Given the description of an element on the screen output the (x, y) to click on. 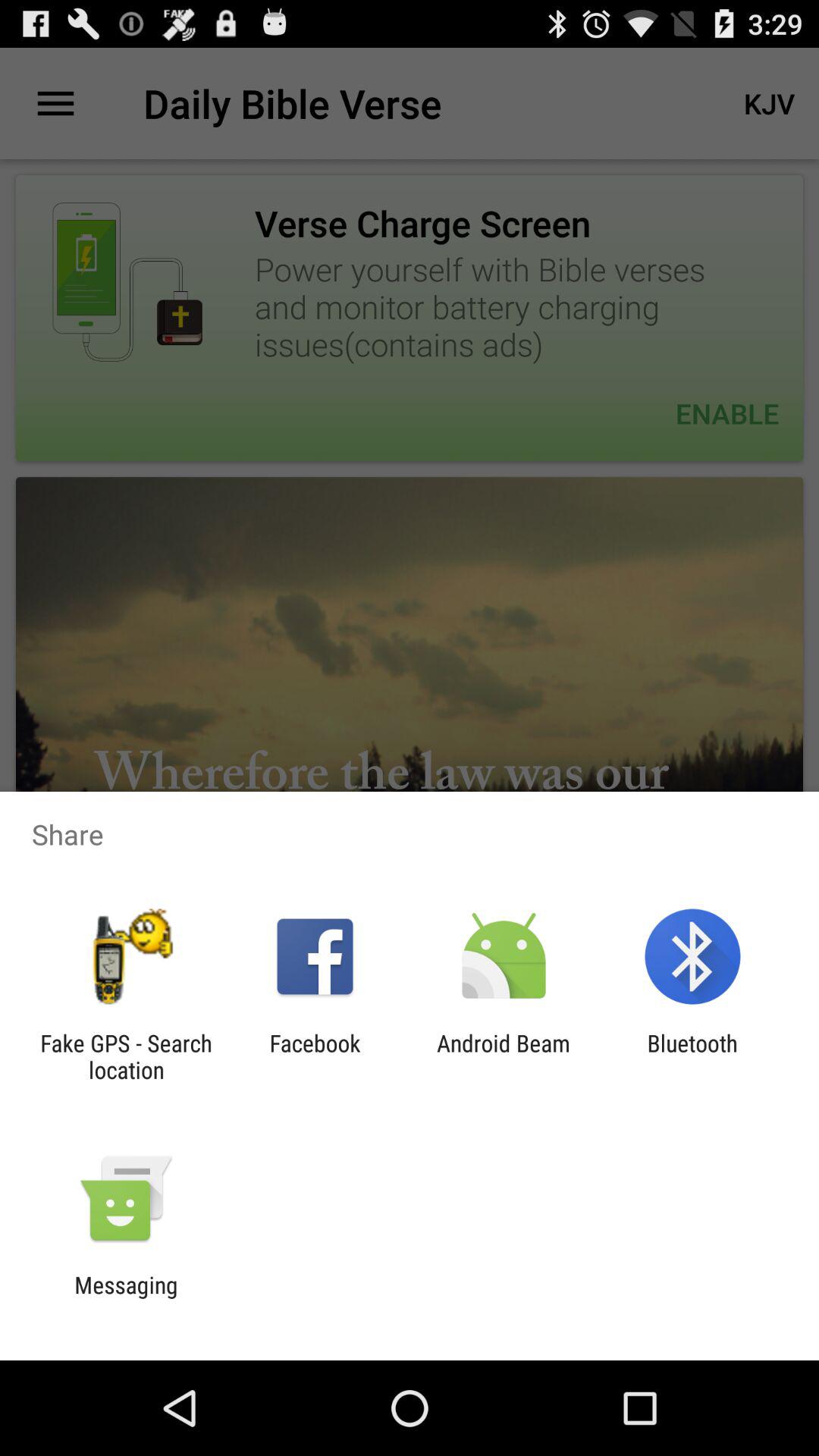
open the bluetooth item (692, 1056)
